Given the description of an element on the screen output the (x, y) to click on. 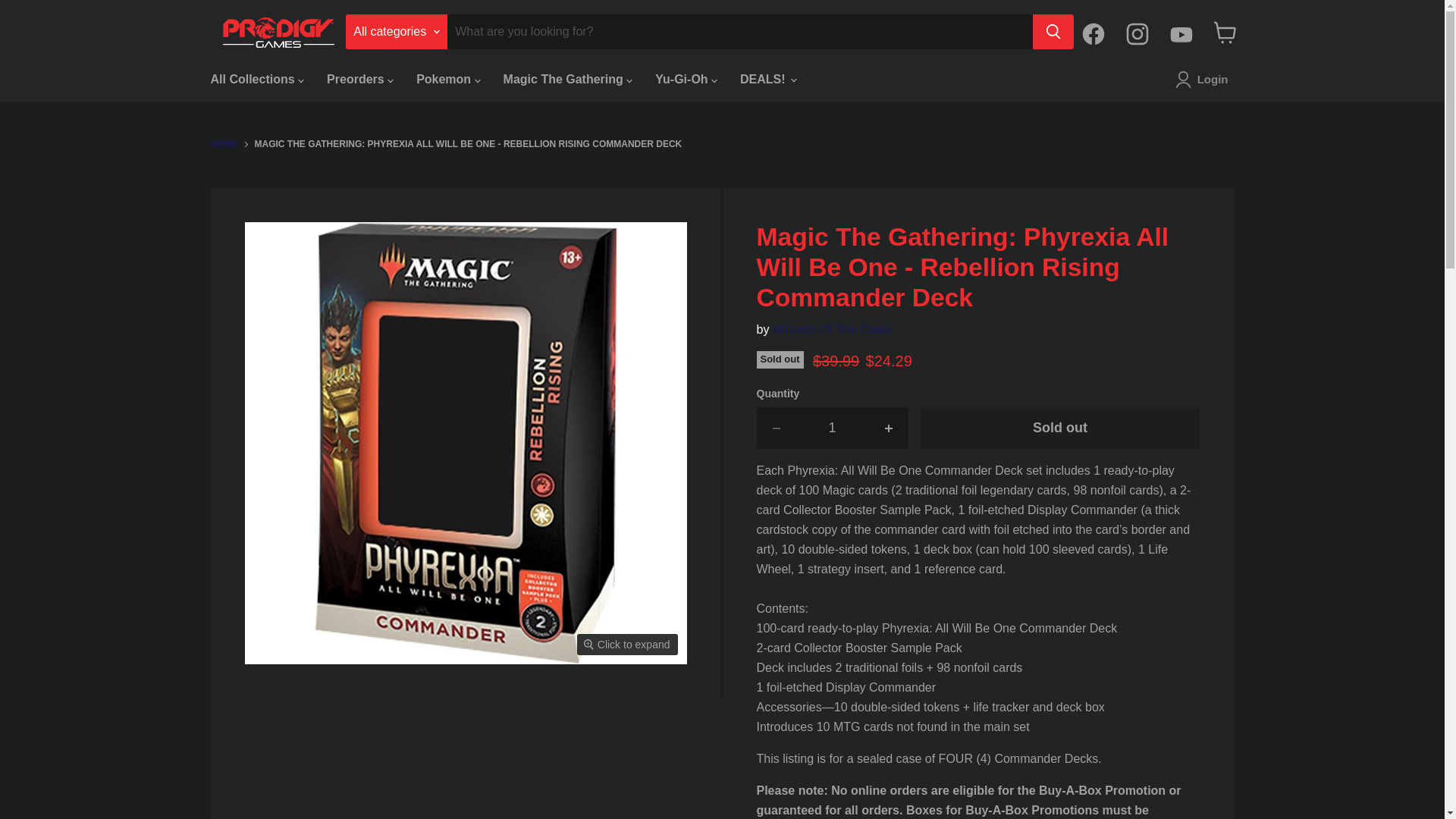
Facebook (1093, 35)
1 (831, 427)
View cart (1224, 32)
Find us on Instagram (1137, 35)
YouTube (1180, 35)
Find us on Facebook (1093, 35)
Find us on YouTube (1180, 35)
Wizards Of The Coast (832, 328)
Instagram (1137, 35)
